Given the description of an element on the screen output the (x, y) to click on. 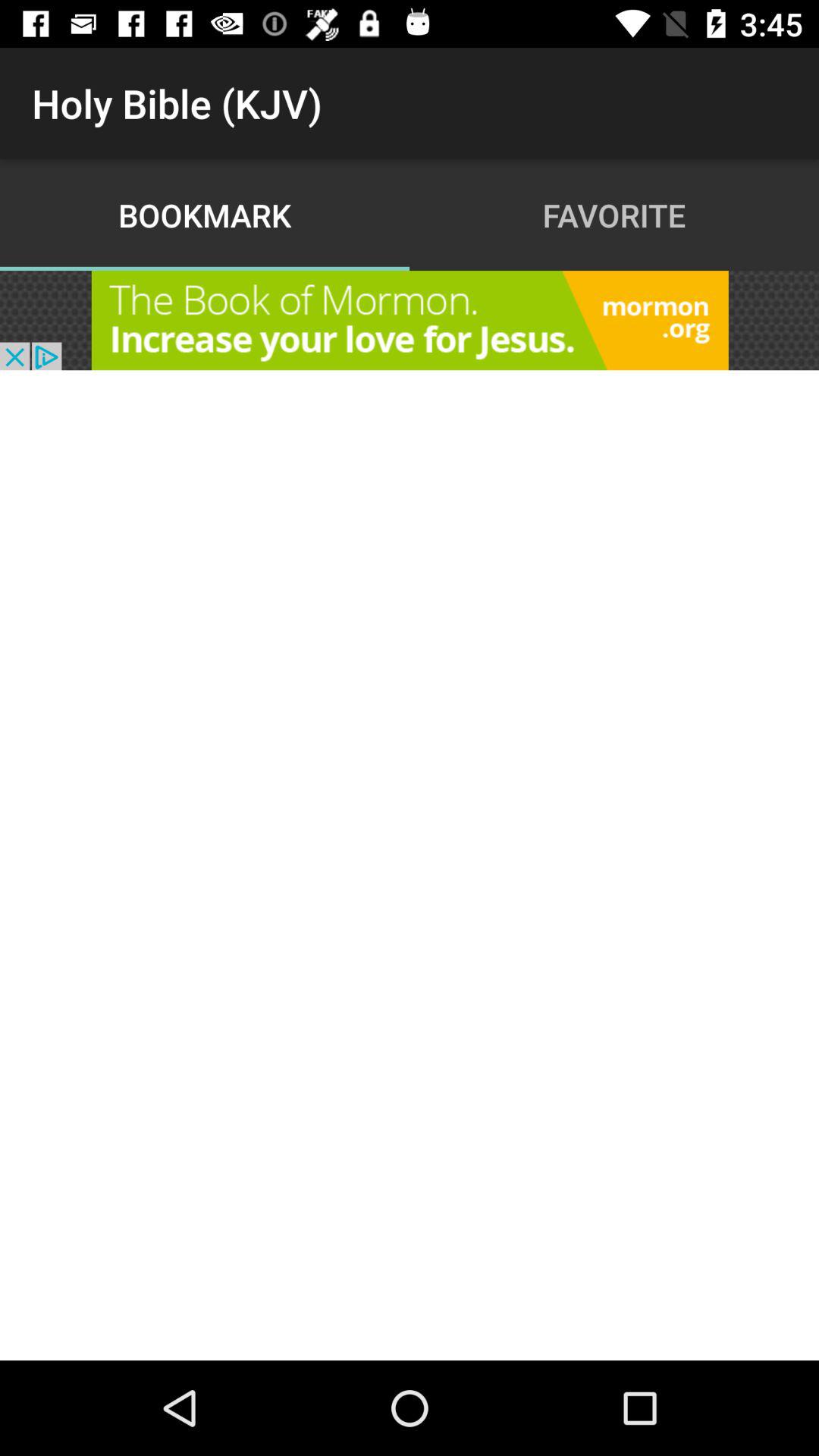
advatisment (409, 320)
